Given the description of an element on the screen output the (x, y) to click on. 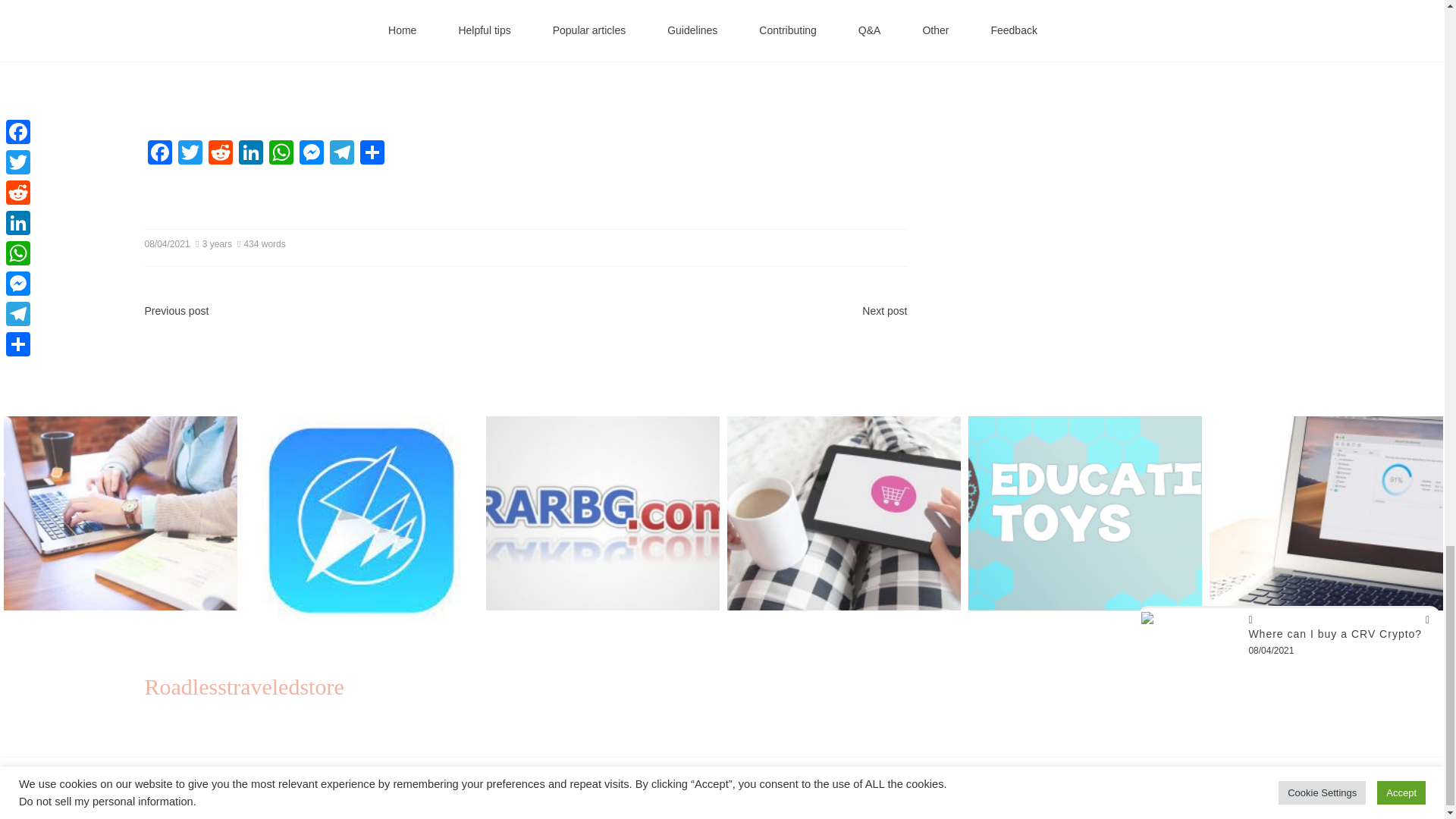
Twitter (189, 154)
WhatsApp (279, 154)
Reddit (219, 154)
WhatsApp (279, 154)
Reddit (219, 154)
LinkedIn (249, 154)
Next post (884, 310)
Coccidioides, Paracoccidioides,Talaromycosis Penicillium (386, 56)
LinkedIn (249, 154)
Facebook (159, 154)
Facebook (159, 154)
Messenger (310, 154)
3 years (214, 243)
Twitter (189, 154)
Messenger (310, 154)
